Given the description of an element on the screen output the (x, y) to click on. 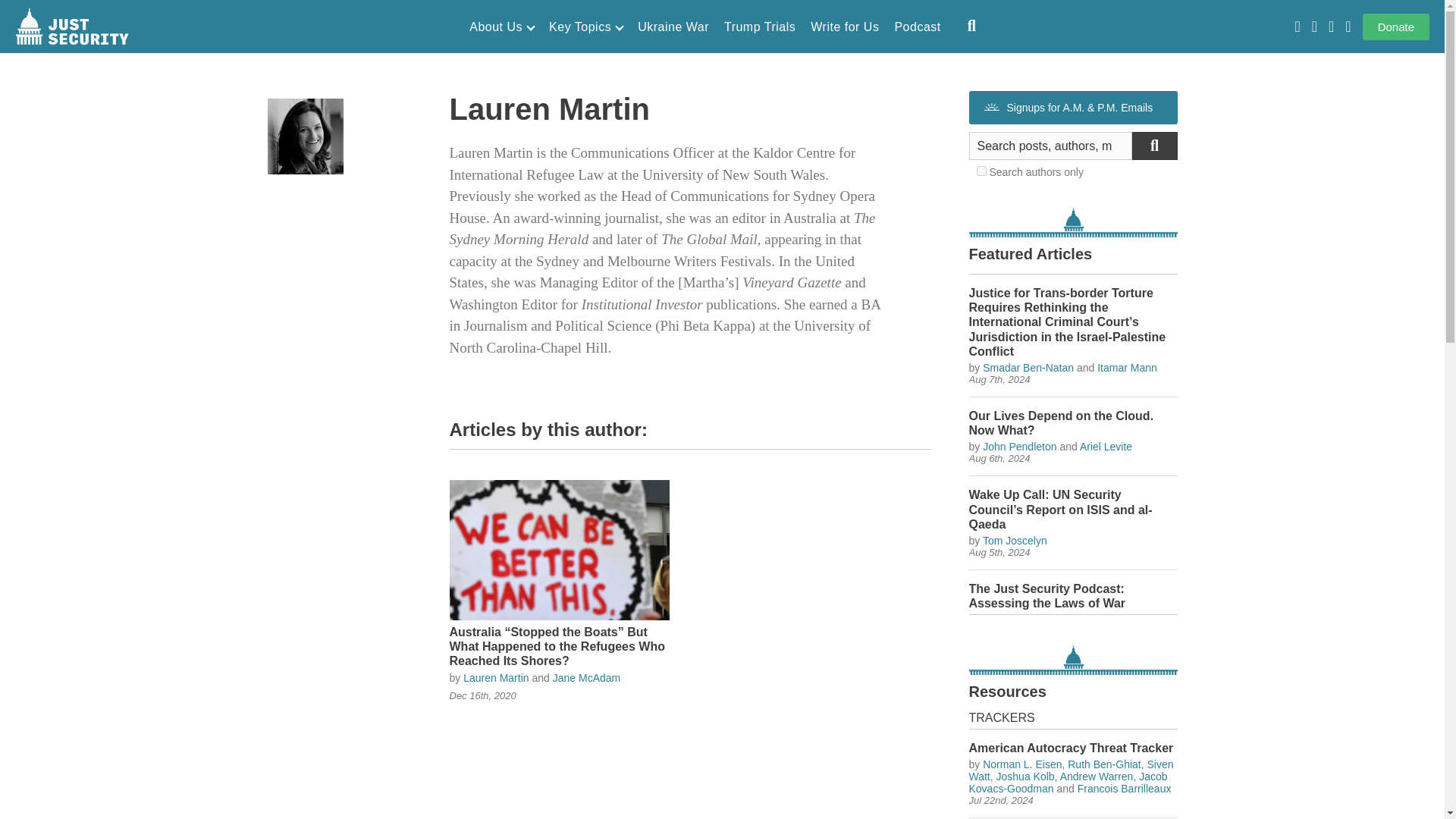
Key Topics (585, 27)
Profile and articles by Lauren Martin (495, 677)
Profile and articles by Itamar Mann (1127, 367)
on (981, 171)
Profile and articles by John Pendleton (1019, 446)
Write for Us (844, 27)
Profile and articles by Tess Bridgeman (1102, 619)
Trump Trials (758, 27)
Profile and articles by Ariel Levite (1106, 446)
Profile and articles by Smadar Ben-Natan (1028, 367)
